Given the description of an element on the screen output the (x, y) to click on. 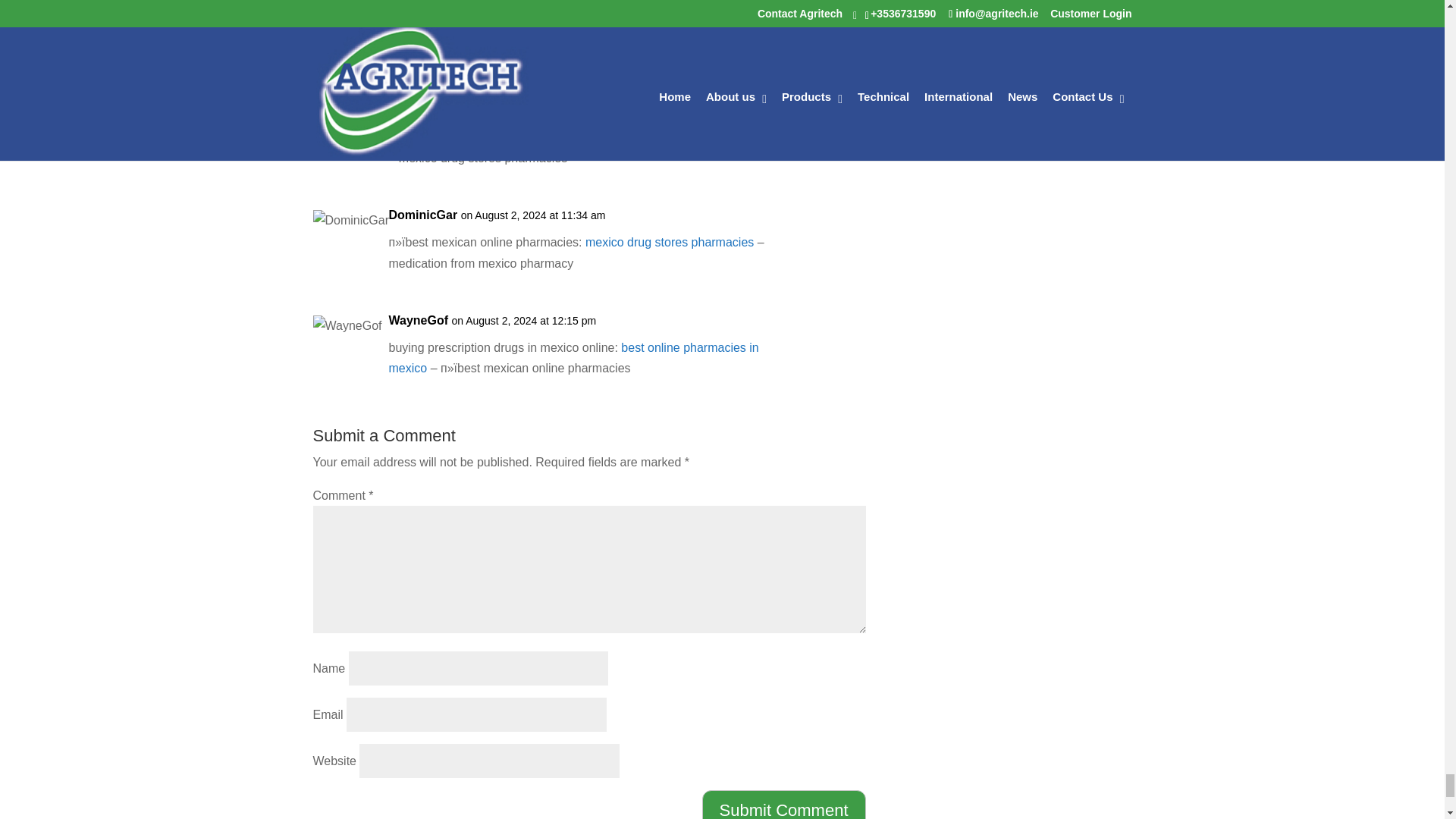
Submit Comment (783, 804)
